Given the description of an element on the screen output the (x, y) to click on. 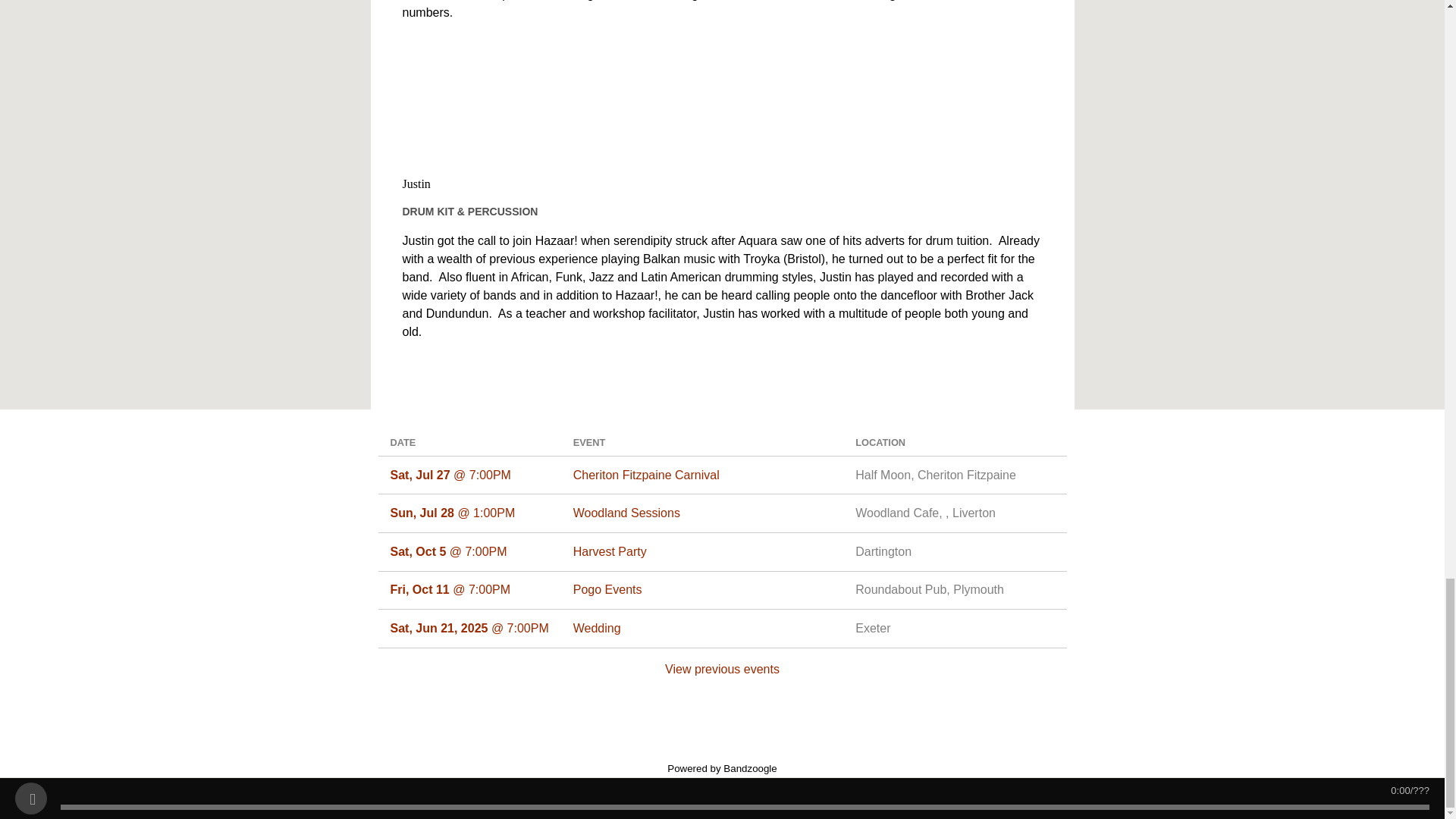
Pogo Events (702, 589)
Roundabout Pub, Plymouth (955, 589)
Woodland Cafe, , Liverton (955, 513)
Cheriton Fitzpaine Carnival (702, 475)
Woodland Sessions (702, 513)
Dartington (955, 551)
Powered by Bandzoogle (721, 767)
Half Moon, Cheriton Fitzpaine (955, 475)
Harvest Party (702, 551)
